Given the description of an element on the screen output the (x, y) to click on. 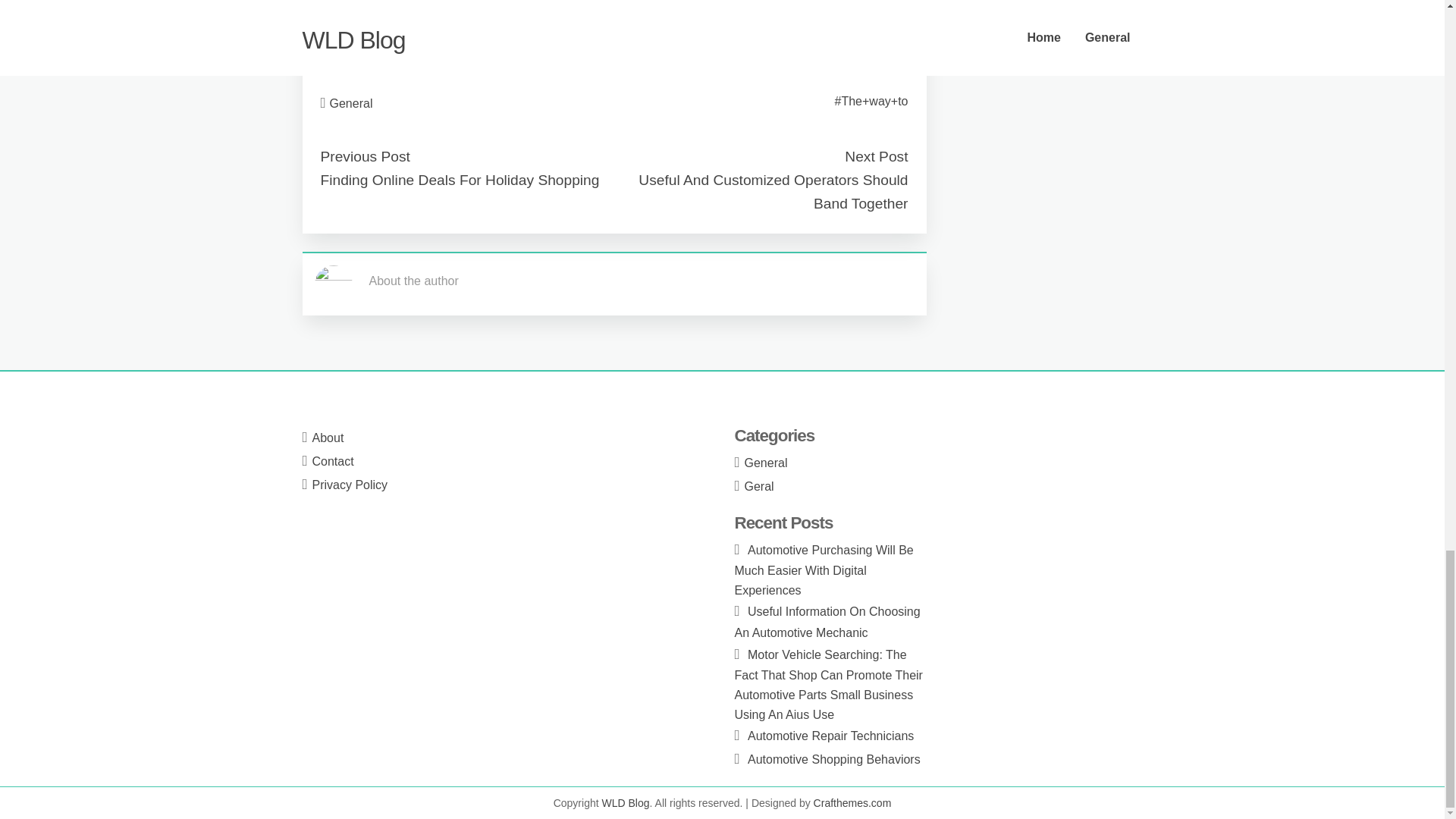
WLD Blog (625, 802)
Contact (333, 461)
Useful And Customized Operators Should Band Together (773, 191)
you could look here (372, 51)
Finding Online Deals For Holiday Shopping (459, 179)
Next Post (875, 156)
Automotive Repair Technicians (831, 735)
Useful Information On Choosing An Automotive Mechanic (826, 622)
Crafthemes.com (852, 802)
